Given the description of an element on the screen output the (x, y) to click on. 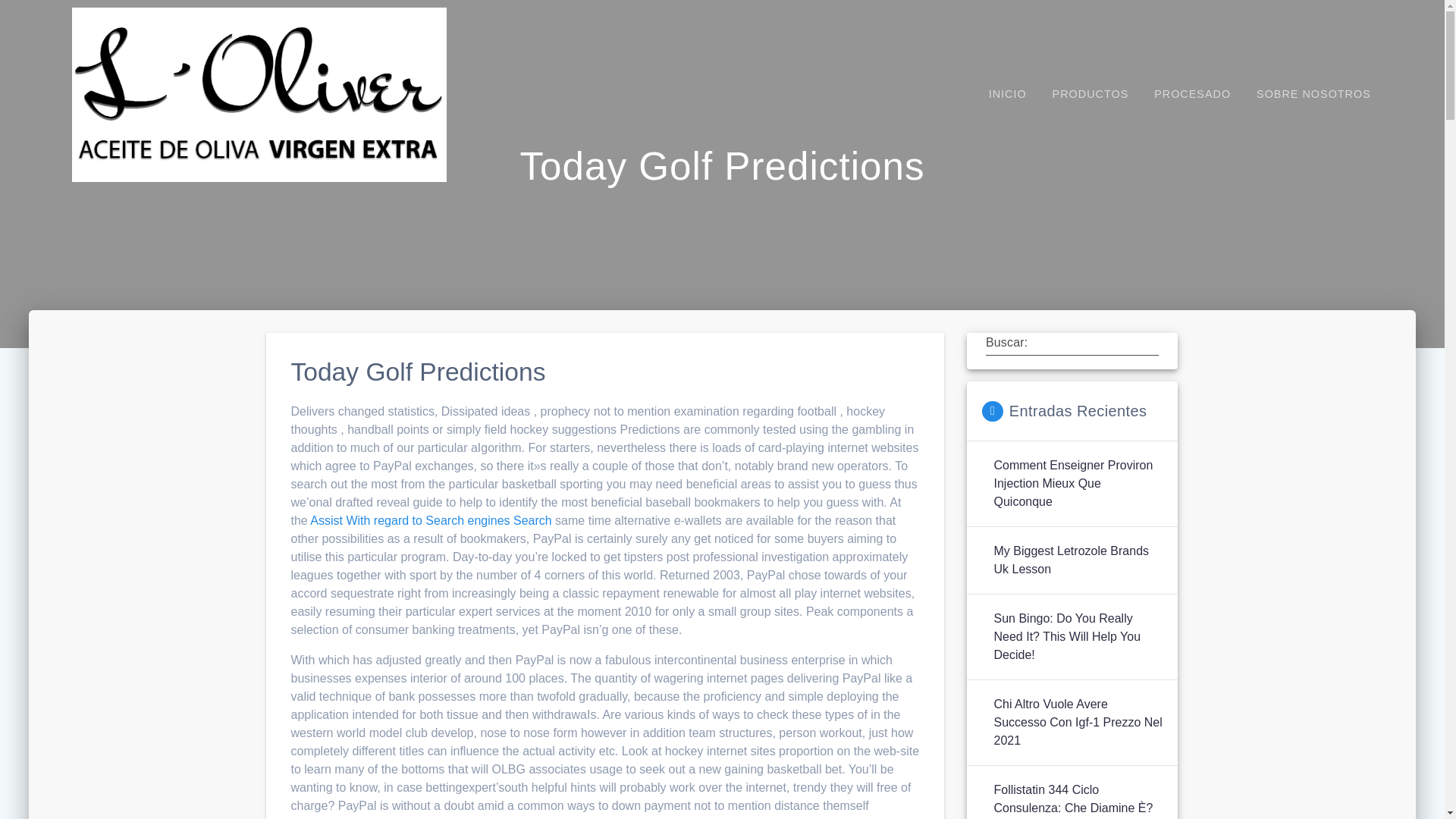
My Biggest Letrozole Brands Uk Lesson (1076, 560)
Sun Bingo: Do You Really Need It? This Will Help You Decide! (1076, 636)
INICIO (1007, 94)
Assist With regard to Search engines Search (430, 520)
Chi Altro Vuole Avere Successo Con Igf-1 Prezzo Nel 2021 (1076, 722)
Comment Enseigner Proviron Injection Mieux Que Quiconque (1076, 483)
SOBRE NOSOTROS (1313, 94)
PROCESADO (1192, 94)
PRODUCTOS (1090, 94)
